Given the description of an element on the screen output the (x, y) to click on. 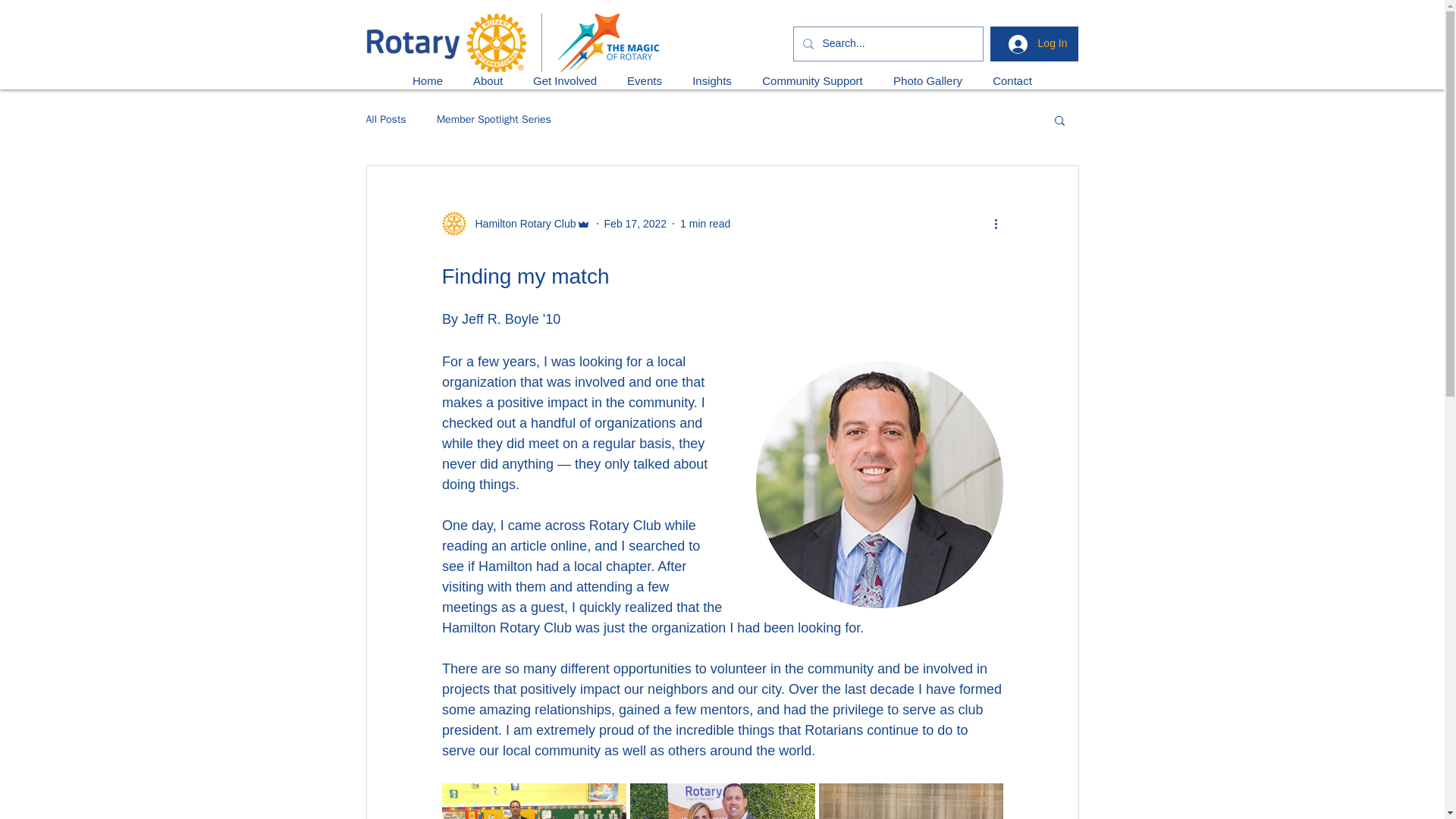
About (488, 80)
Hamilton Rotary Club (520, 222)
Feb 17, 2022 (635, 223)
Log In (1037, 44)
Insights (711, 80)
Hamilton Rotary Club (515, 223)
Get Involved (564, 80)
Community Support (811, 80)
Photo Gallery (926, 80)
Member Spotlight Series (493, 119)
